Given the description of an element on the screen output the (x, y) to click on. 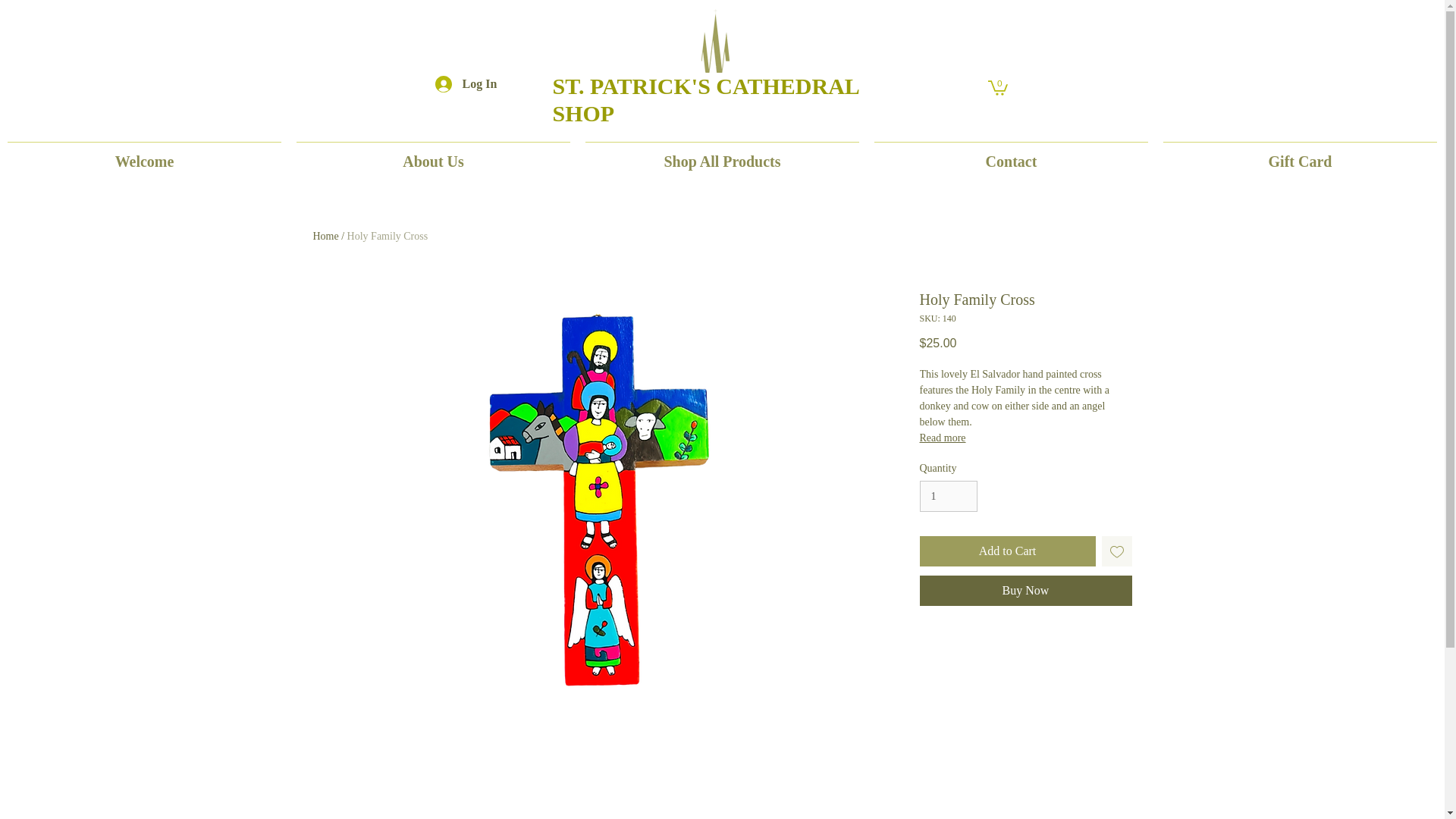
Add to Cart (1006, 551)
Contact (1011, 154)
ST. PATRICK'S CATHEDRAL SHOP (705, 99)
Shop All Products (722, 154)
Read more (1024, 437)
Holy Family Cross (387, 235)
Home (325, 235)
0 (997, 86)
Log In (454, 84)
Welcome (144, 154)
